Given the description of an element on the screen output the (x, y) to click on. 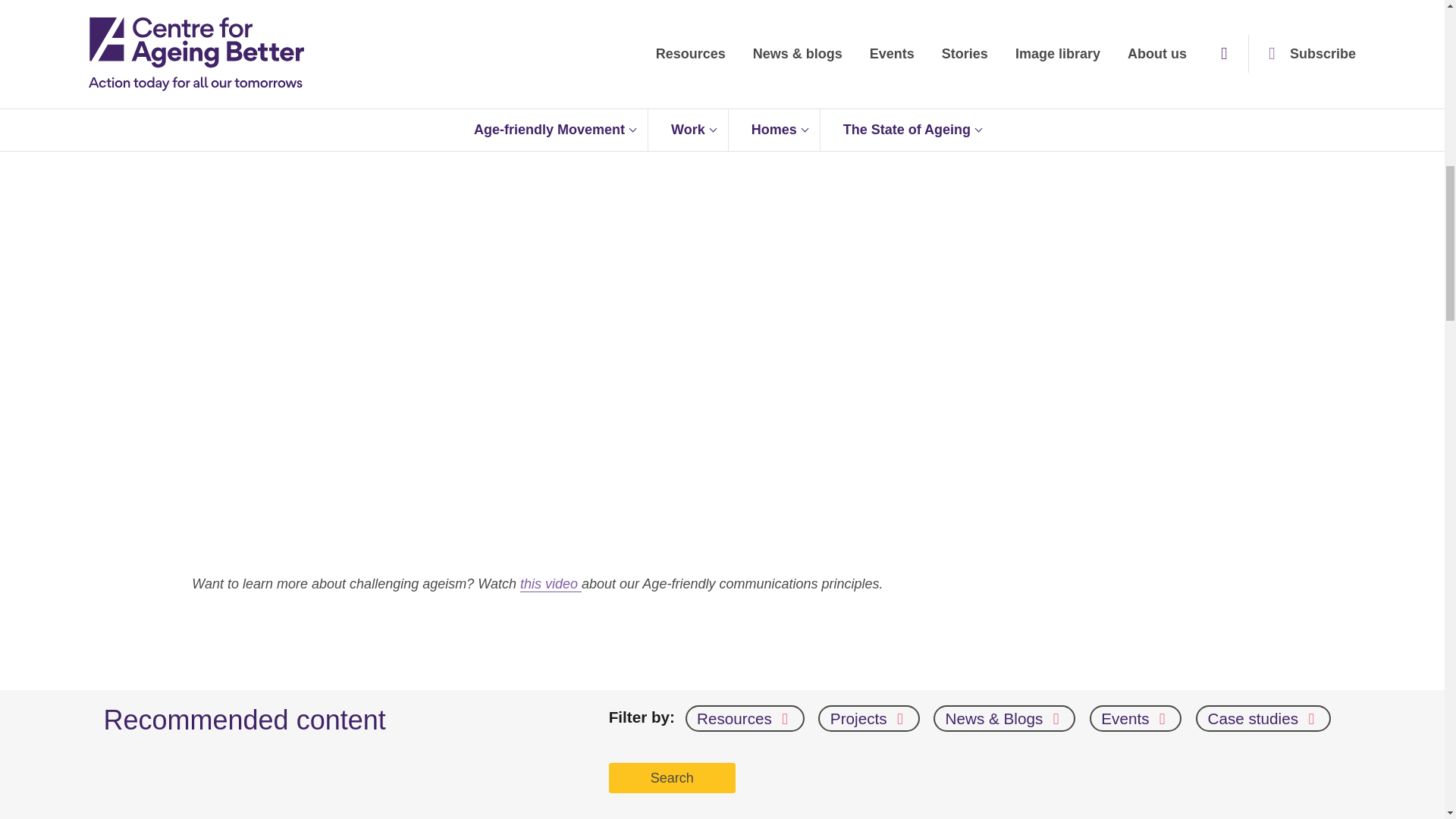
Search (671, 777)
876 (286, 38)
